Given the description of an element on the screen output the (x, y) to click on. 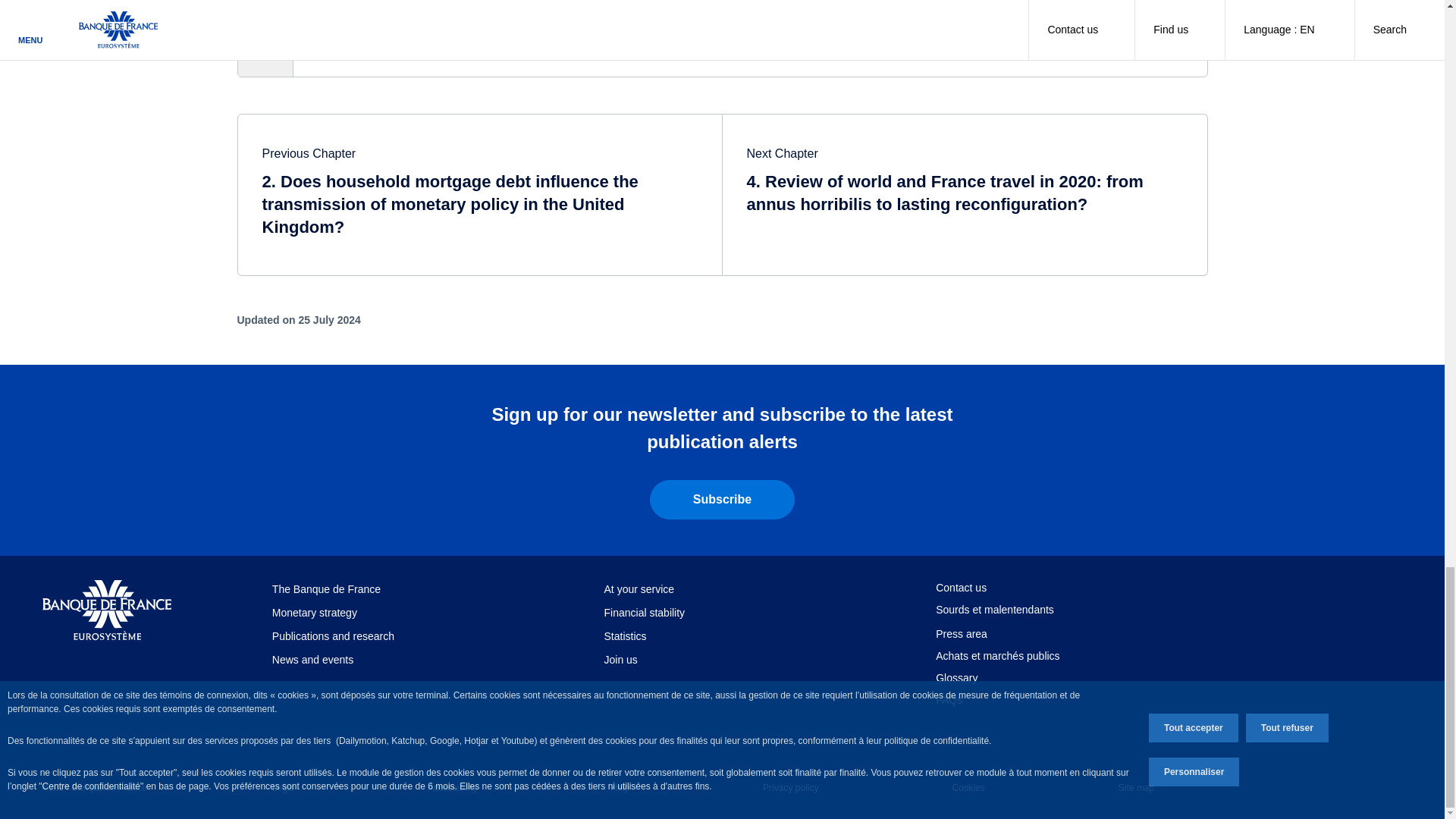
Subscribe (721, 499)
Download (721, 48)
Home (106, 610)
